Given the description of an element on the screen output the (x, y) to click on. 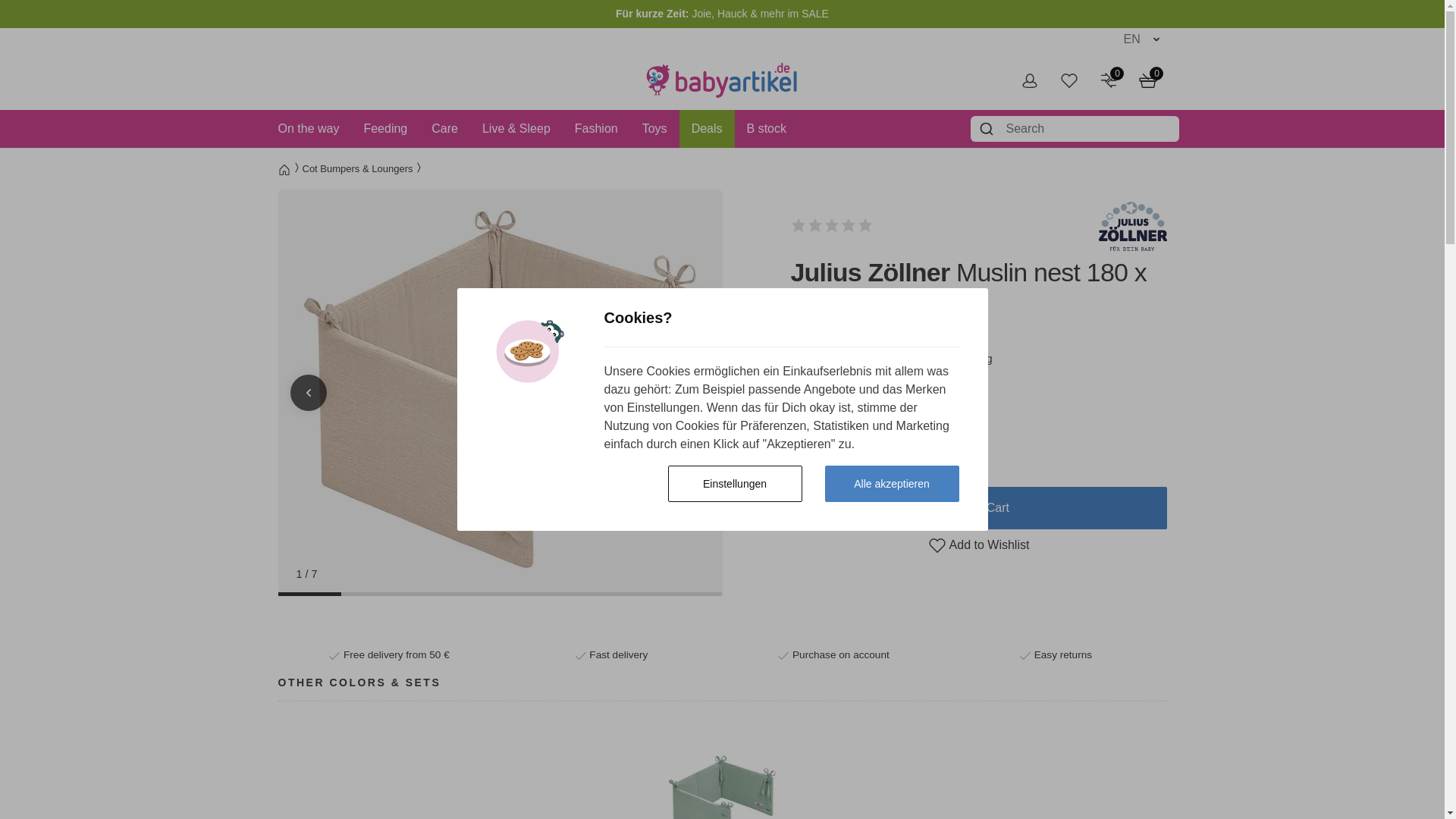
Submit (988, 128)
PayPal (978, 607)
PayPal Message 1 (978, 568)
Add to Cart (978, 507)
